Given the description of an element on the screen output the (x, y) to click on. 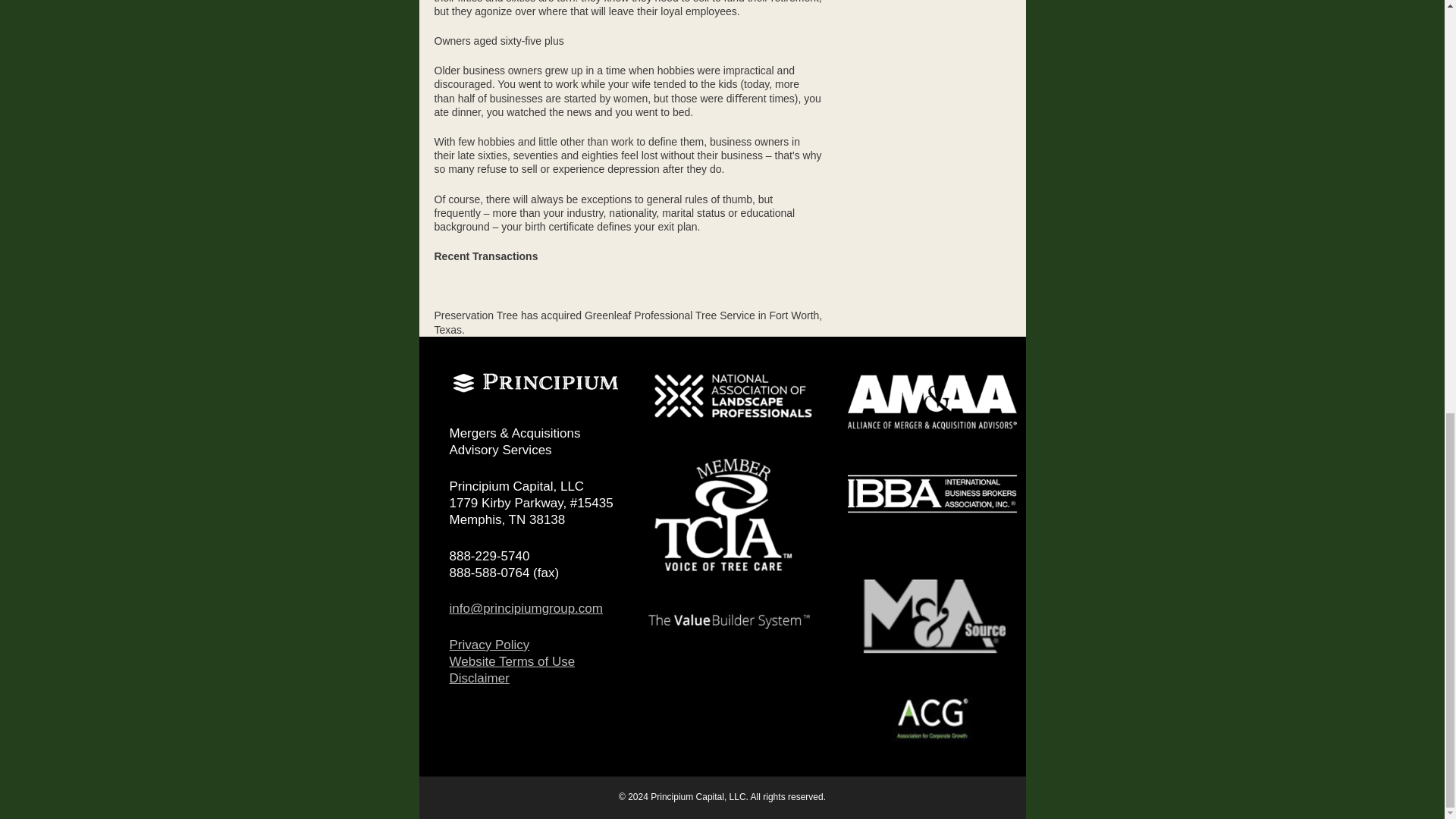
Scroll back to top (1406, 706)
